Given the description of an element on the screen output the (x, y) to click on. 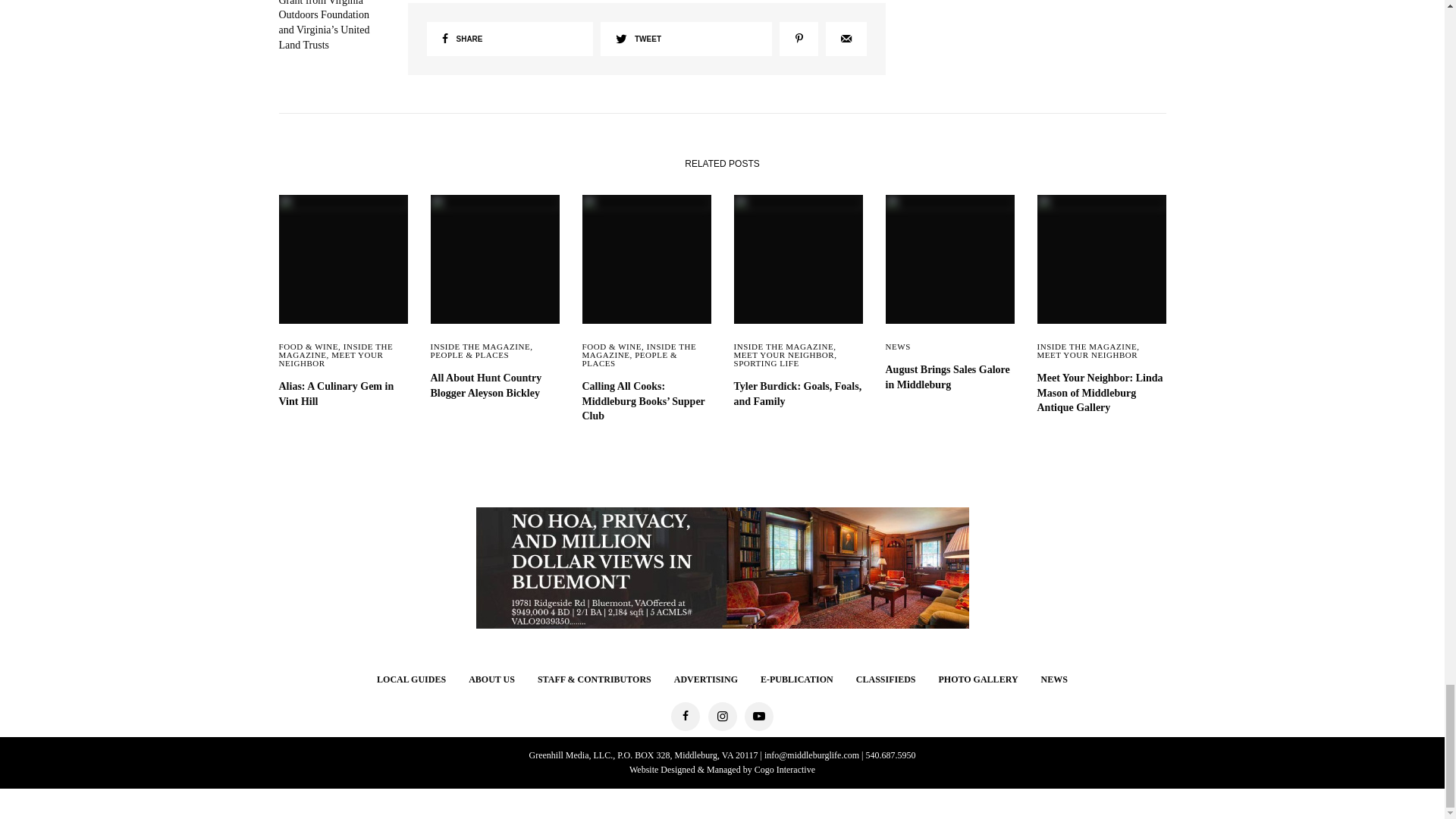
Alias: A Culinary Gem in Vint Hill (343, 393)
SHARE (509, 39)
All About Hunt Country Blogger Aleyson Bickley (494, 385)
August Brings Sales Galore in Middleburg (949, 377)
Tyler Burdick: Goals, Foals, and Family (798, 393)
